Given the description of an element on the screen output the (x, y) to click on. 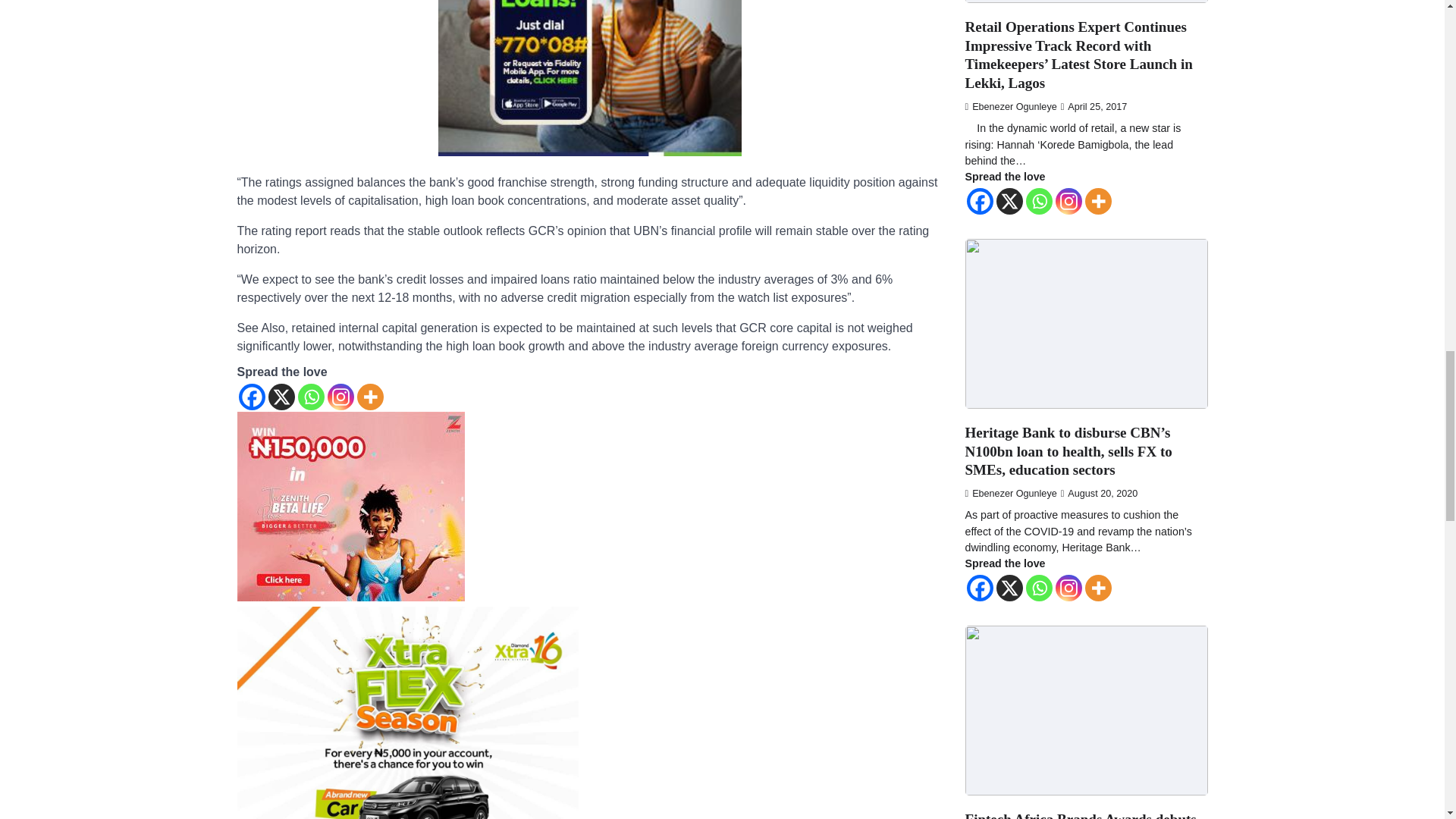
More (369, 397)
Facebook (251, 397)
Whatsapp (310, 397)
X (281, 397)
Instagram (340, 397)
